Given the description of an element on the screen output the (x, y) to click on. 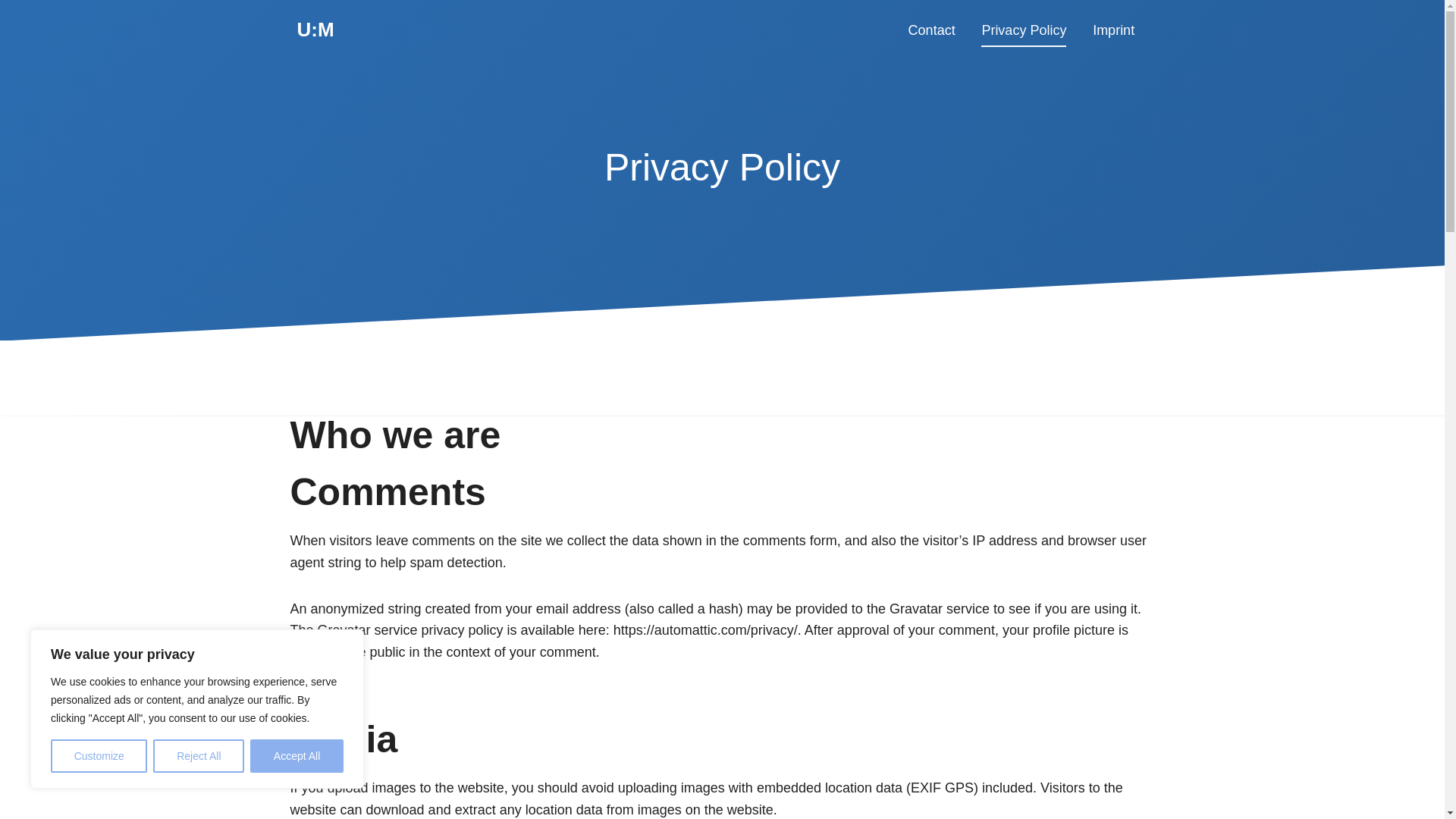
Imprint (1114, 29)
U:M (315, 29)
Privacy Policy (1024, 29)
Accept All (296, 756)
Reject All (198, 756)
Customize (98, 756)
Contact (931, 29)
